Given the description of an element on the screen output the (x, y) to click on. 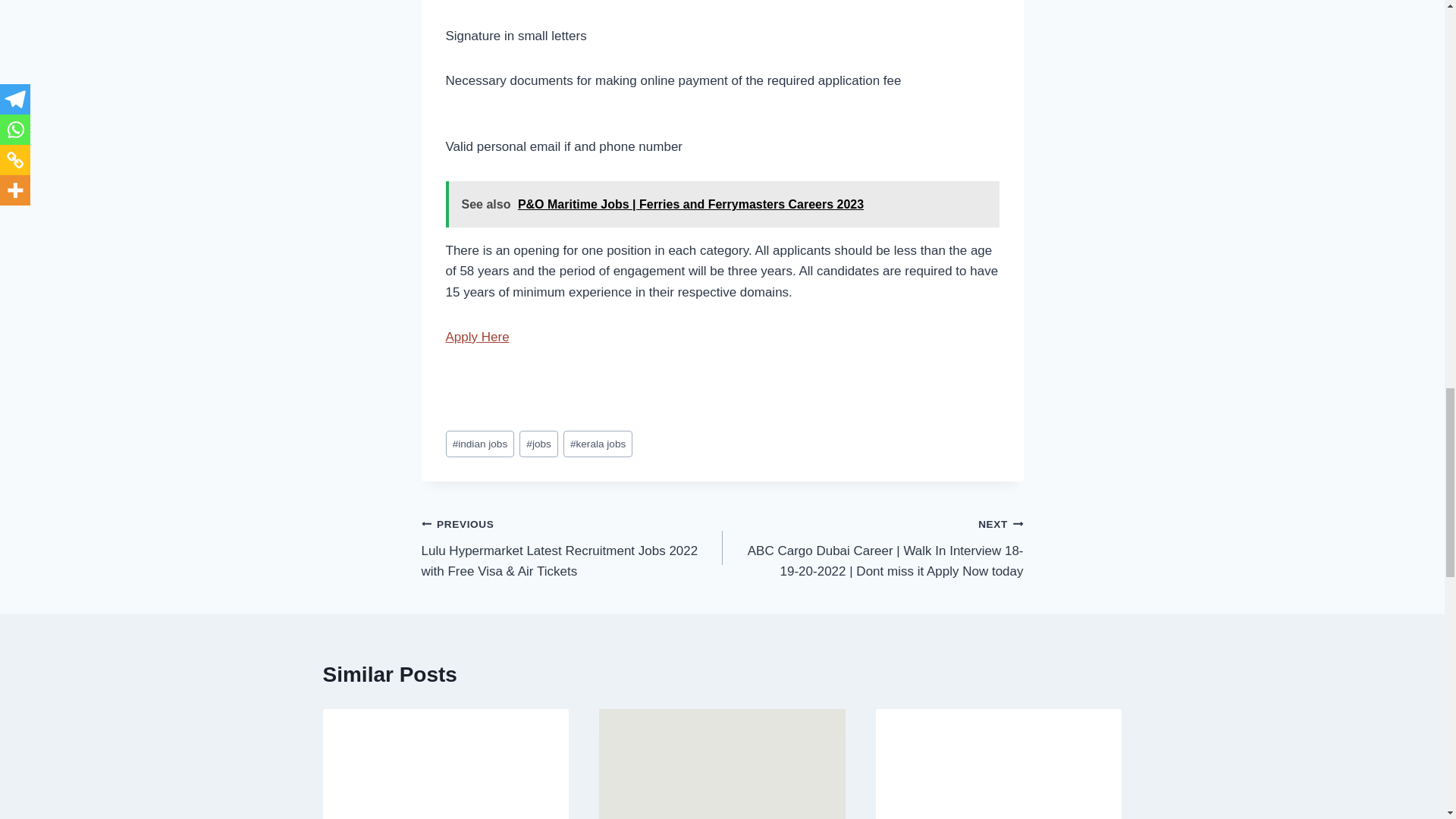
jobs (538, 443)
Apply Here (477, 336)
kerala jobs (598, 443)
indian jobs (480, 443)
